Given the description of an element on the screen output the (x, y) to click on. 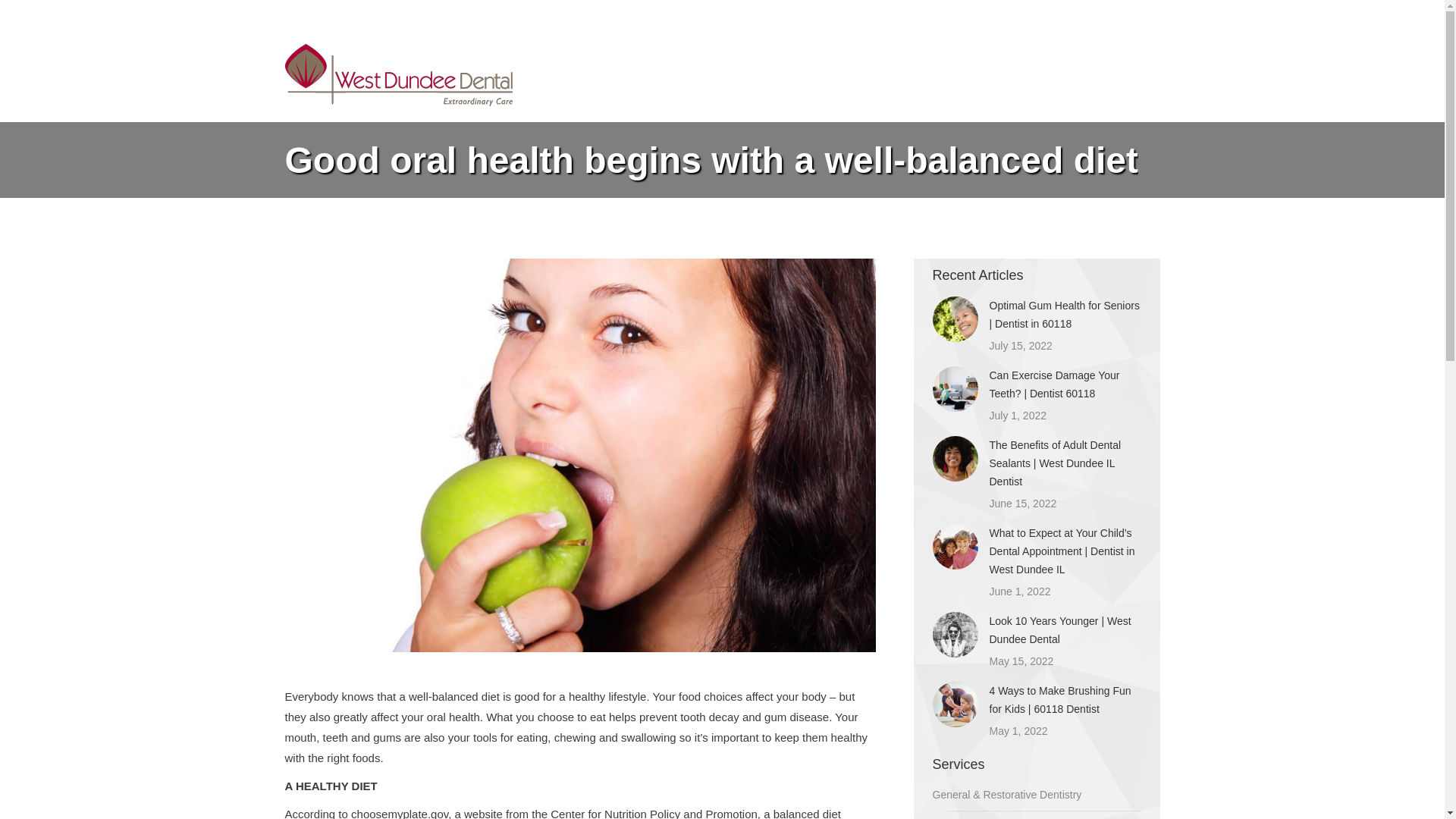
Yelp page opens in new window (1113, 13)
About Us (796, 74)
847-426-5030 (375, 13)
Services (869, 74)
Go! (24, 16)
Patient Information (975, 74)
Email Us (468, 13)
Yelp page opens in new window (1113, 13)
Contact Us (1088, 74)
Facebook page opens in new window (1090, 13)
Facebook page opens in new window (1090, 13)
